Given the description of an element on the screen output the (x, y) to click on. 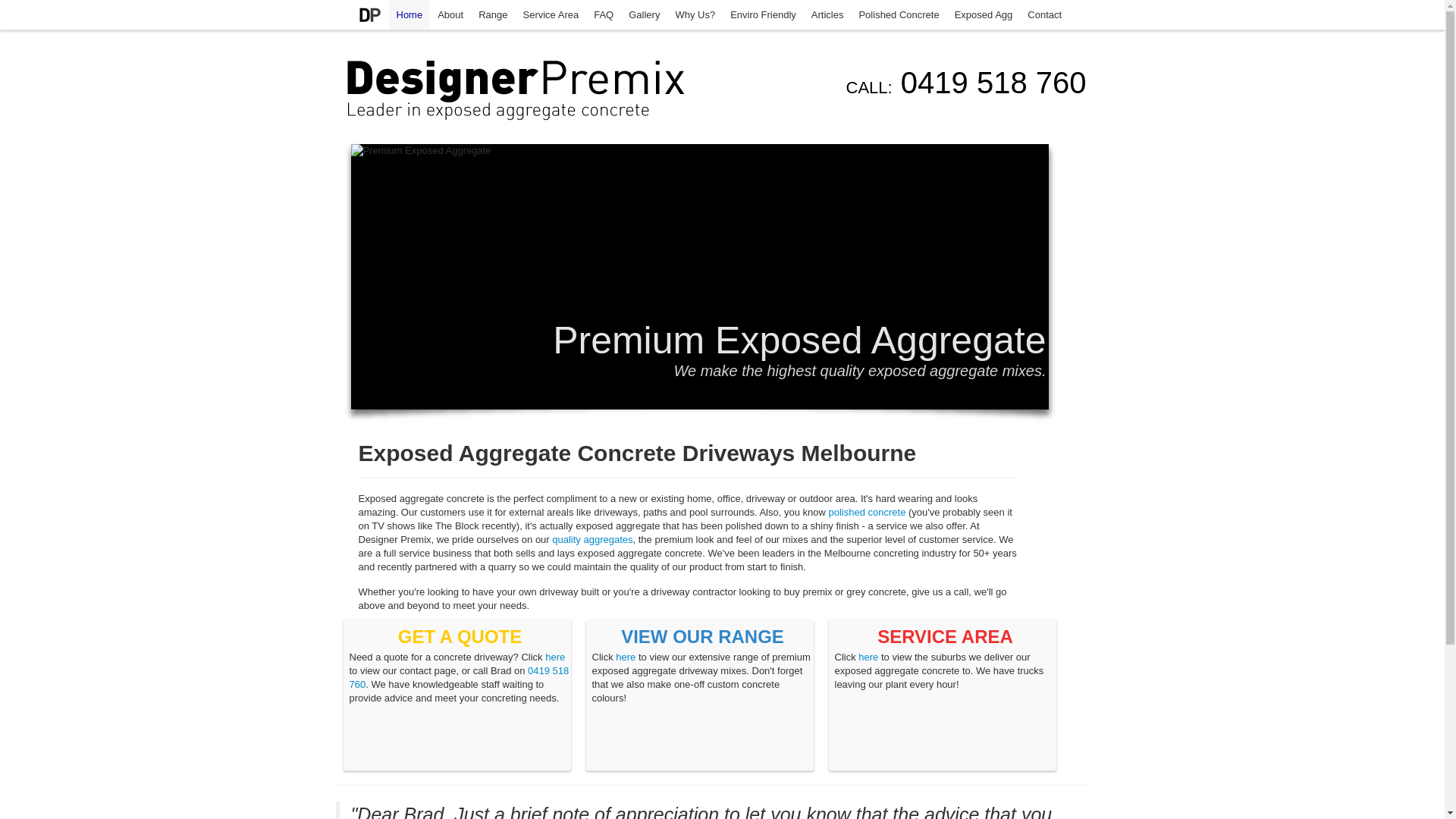
polished concrete Element type: text (866, 511)
here Element type: text (625, 656)
here Element type: text (554, 656)
Designer Premix Logo Element type: hover (368, 14)
Service Area Element type: text (550, 15)
Articles Element type: text (827, 15)
FAQ Element type: text (603, 15)
Enviro Friendly Element type: text (762, 15)
Polished Concrete Element type: text (898, 15)
0419 518 760 Element type: text (458, 677)
Why Us? Element type: text (694, 15)
quality aggregates Element type: text (592, 539)
Gallery Element type: text (644, 15)
Contact Element type: text (1044, 15)
here Element type: text (868, 656)
Range Element type: text (492, 15)
About Element type: text (449, 15)
Home Element type: text (408, 14)
Exposed Agg Element type: text (983, 15)
CALL: 0419 518 760 Element type: text (966, 82)
